Given the description of an element on the screen output the (x, y) to click on. 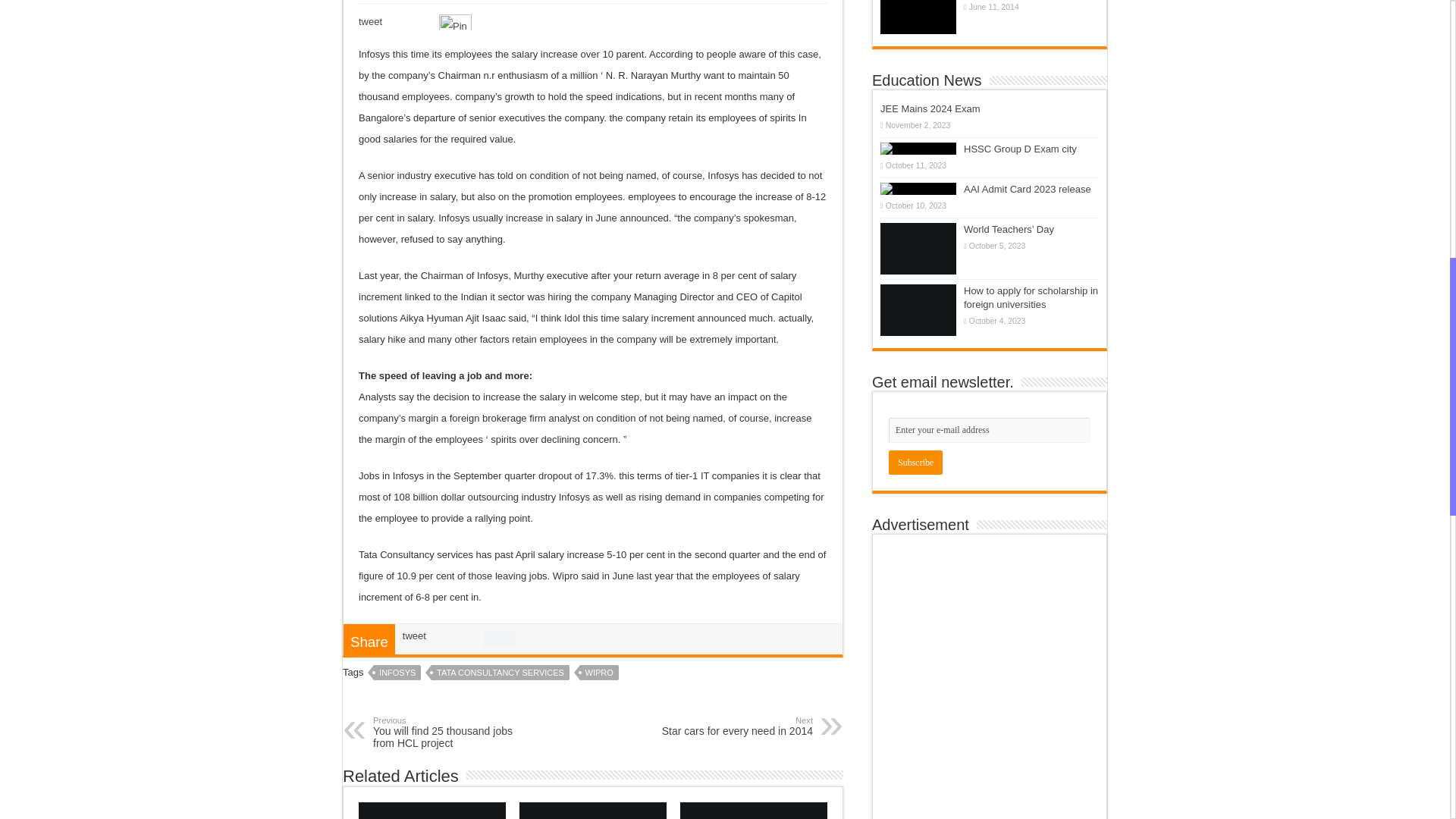
Subscribe (915, 462)
Enter your e-mail address (989, 430)
